Given the description of an element on the screen output the (x, y) to click on. 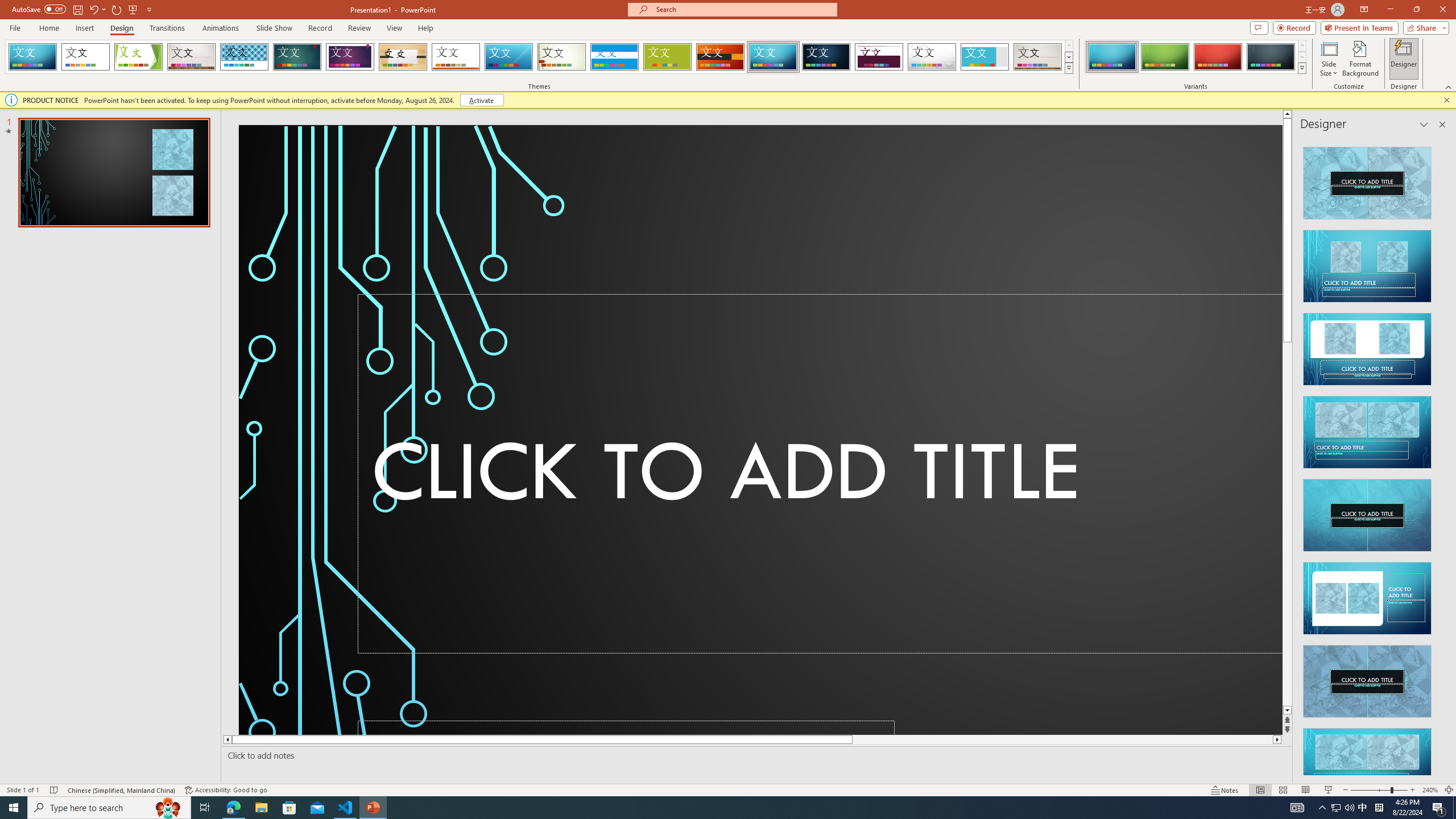
Office Theme (85, 56)
Damask (826, 56)
Title TextBox (820, 473)
Accessibility Checker Accessibility: Good to go (226, 790)
Gallery (1037, 56)
Circuit Variant 1 (1112, 56)
Restore Down (1416, 9)
Format Background (1360, 58)
Collapse the Ribbon (1448, 86)
